Given the description of an element on the screen output the (x, y) to click on. 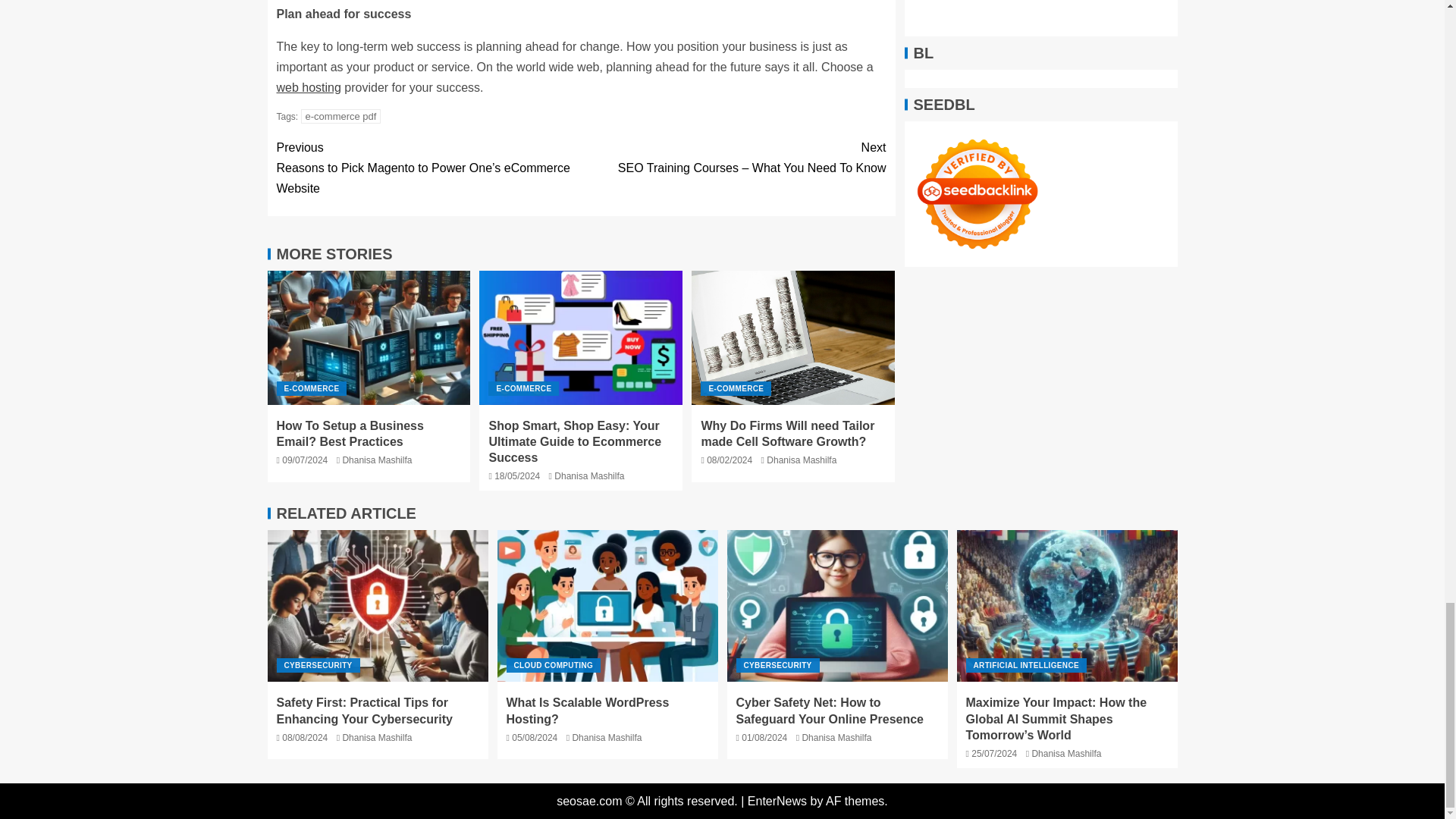
How To Setup a Business Email? Best Practices (368, 337)
E-COMMERCE (523, 388)
E-COMMERCE (311, 388)
How To Setup a Business Email? Best Practices (349, 433)
Why Do Firms Will need Tailor made Cell Software Growth? (793, 337)
E-COMMERCE (735, 388)
Cyber Safety Net: How to Safeguard Your Online Presence (836, 605)
What Is Scalable WordPress Hosting? (607, 605)
e-commerce pdf (341, 115)
